Given the description of an element on the screen output the (x, y) to click on. 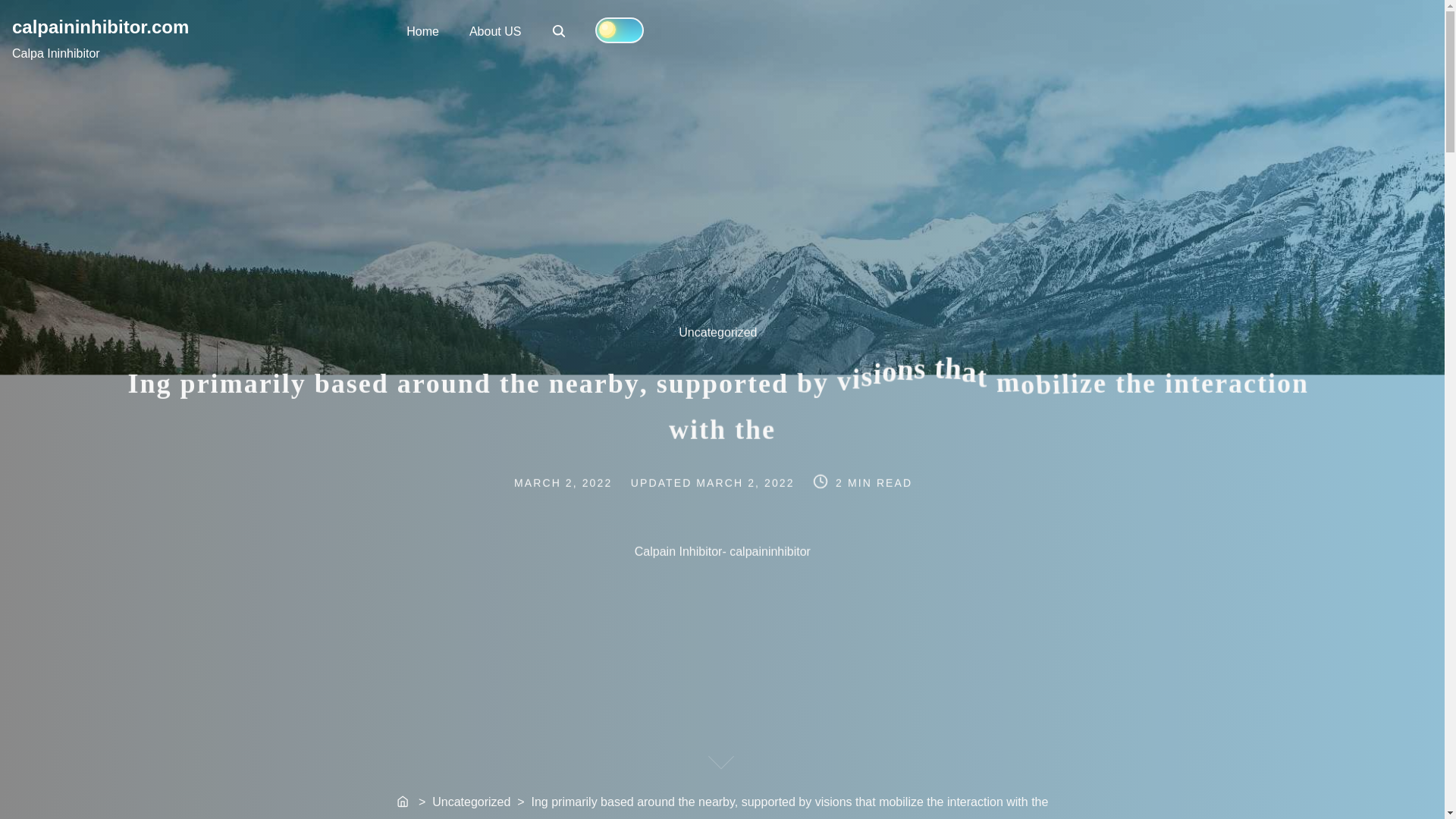
Uncategorized (724, 339)
About US (494, 30)
Search (558, 30)
Home (422, 30)
MARCH 2, 2022 (574, 480)
MARCH 2, 2022 (559, 31)
calpaininhibitor.com (745, 481)
Home (100, 26)
